Given the description of an element on the screen output the (x, y) to click on. 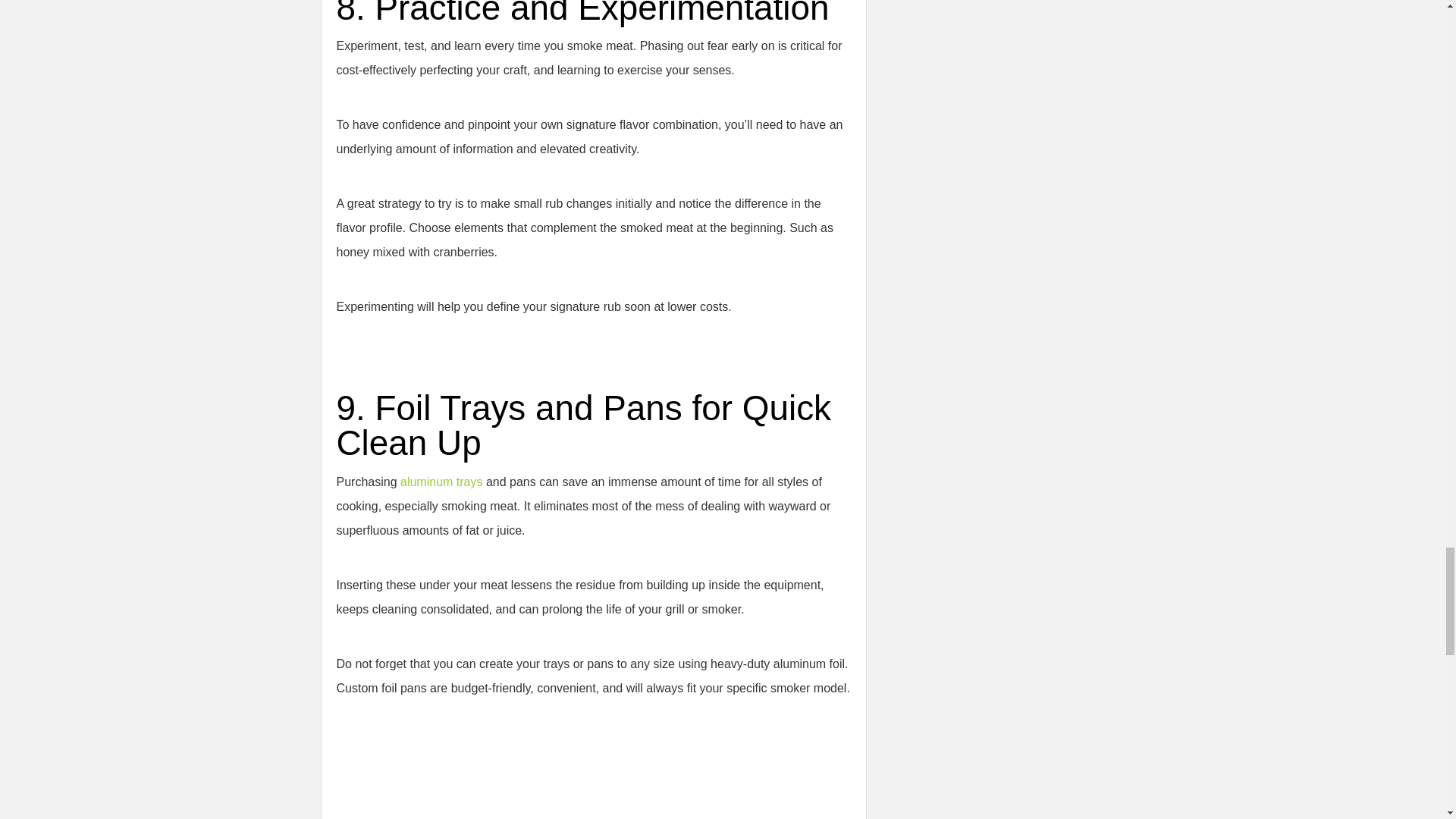
aluminum trays (440, 481)
Tip: Easiest way to make a foil drip tray (526, 775)
